Given the description of an element on the screen output the (x, y) to click on. 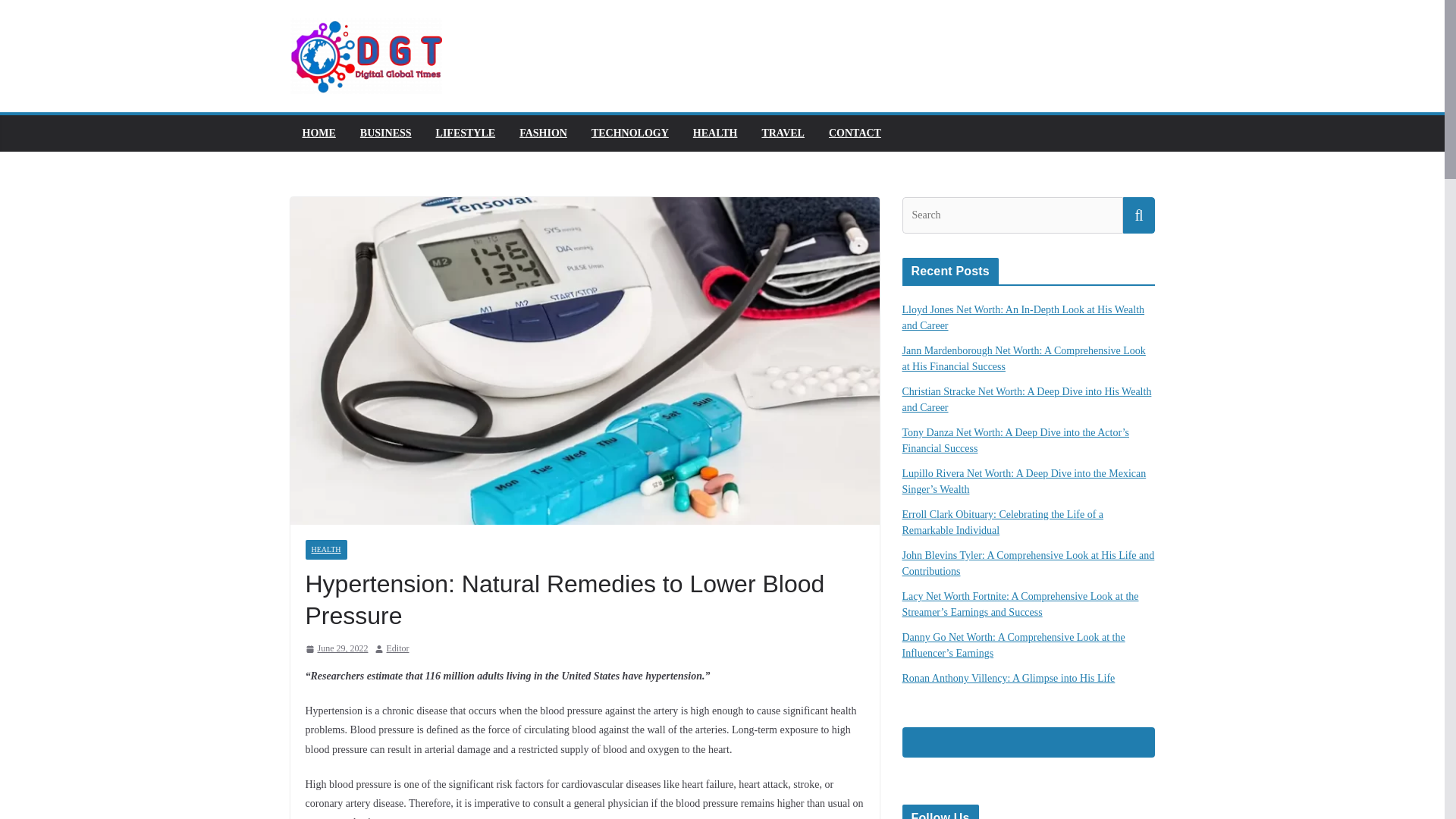
BUSINESS (385, 133)
FASHION (543, 133)
TRAVEL (783, 133)
TECHNOLOGY (629, 133)
LIFESTYLE (465, 133)
June 29, 2022 (336, 648)
HOME (317, 133)
HEALTH (325, 549)
CONTACT (854, 133)
5:23 pm (336, 648)
Editor (398, 648)
Editor (398, 648)
HEALTH (715, 133)
